Given the description of an element on the screen output the (x, y) to click on. 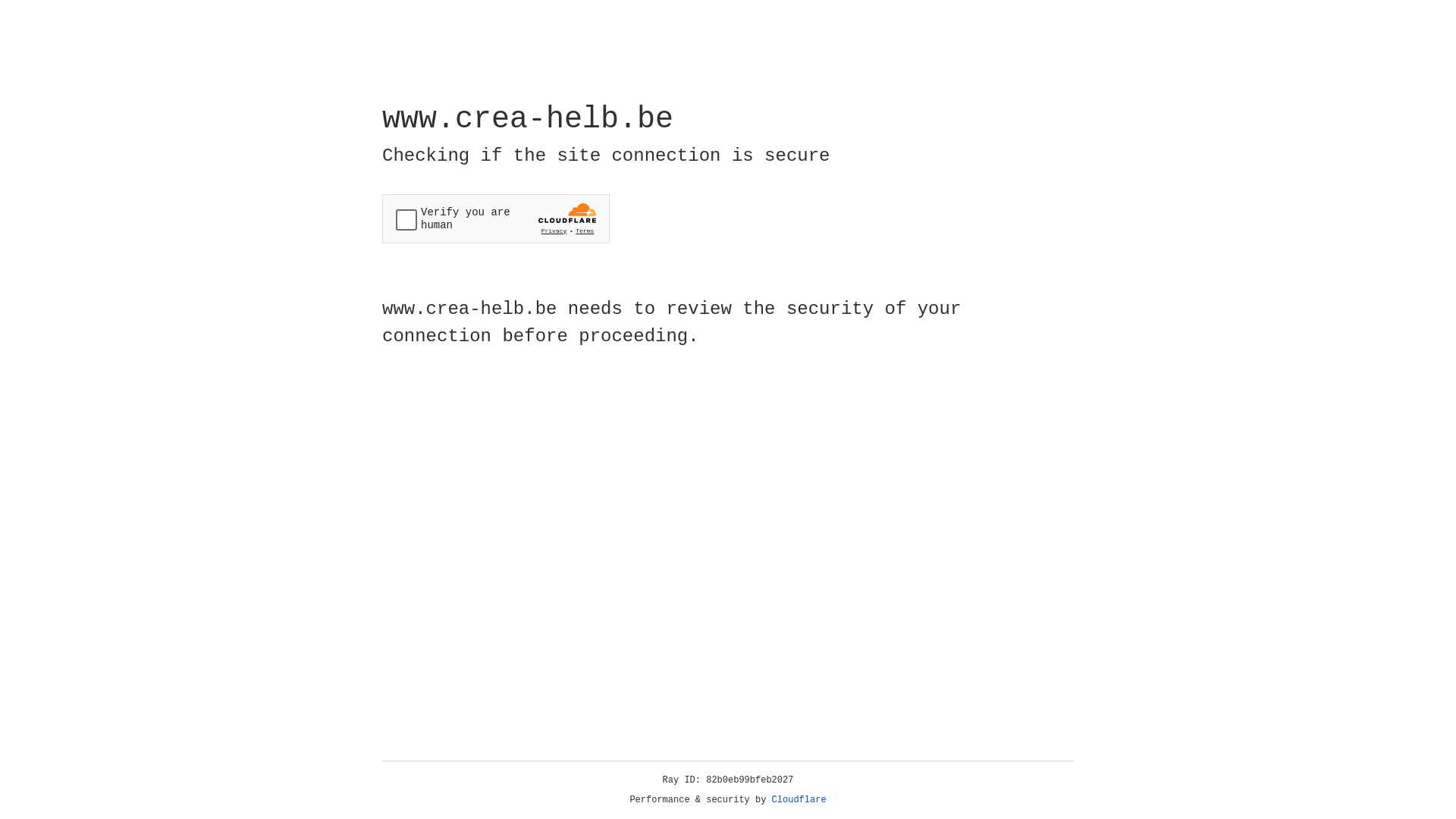
Cloudflare Element type: text (798, 799)
Widget containing a Cloudflare security challenge Element type: hover (495, 218)
